Given the description of an element on the screen output the (x, y) to click on. 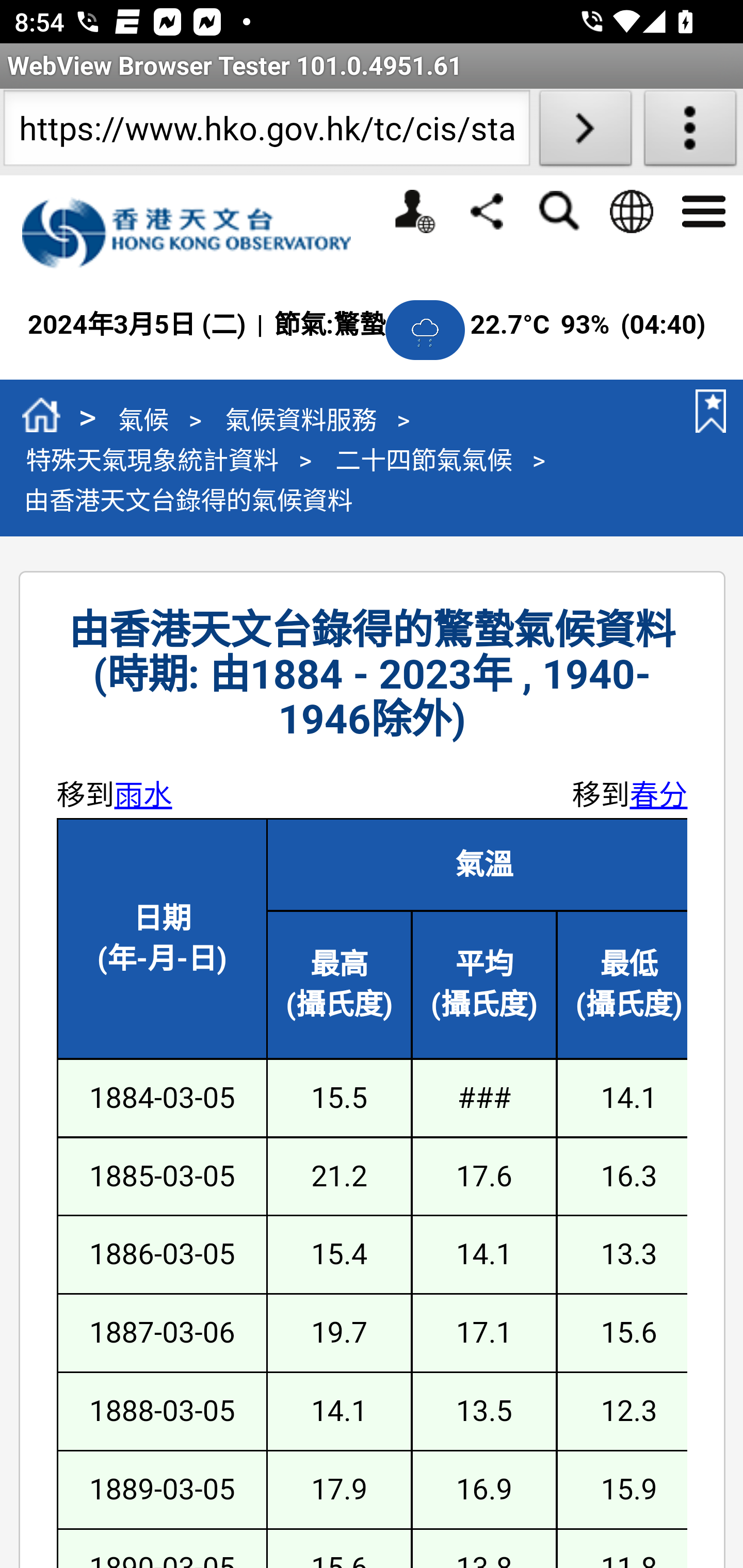
Load URL (585, 132)
About WebView (690, 132)
香港天文台 (197, 233)
個人版網站 個人版網站 (414, 211)
搜尋 搜尋 (558, 211)
語言 語言 (630, 211)
分享 分享 (486, 210)
選單 選單 (703, 209)
書籤 書籤 書籤 書籤 (706, 410)
主頁 (41, 417)
氣候 (143, 419)
氣候資料服務 (300, 419)
特殊天氣現象統計資料 (152, 458)
二十四節氣氣候 (422, 458)
雨水 (143, 794)
春分 (658, 794)
